Given the description of an element on the screen output the (x, y) to click on. 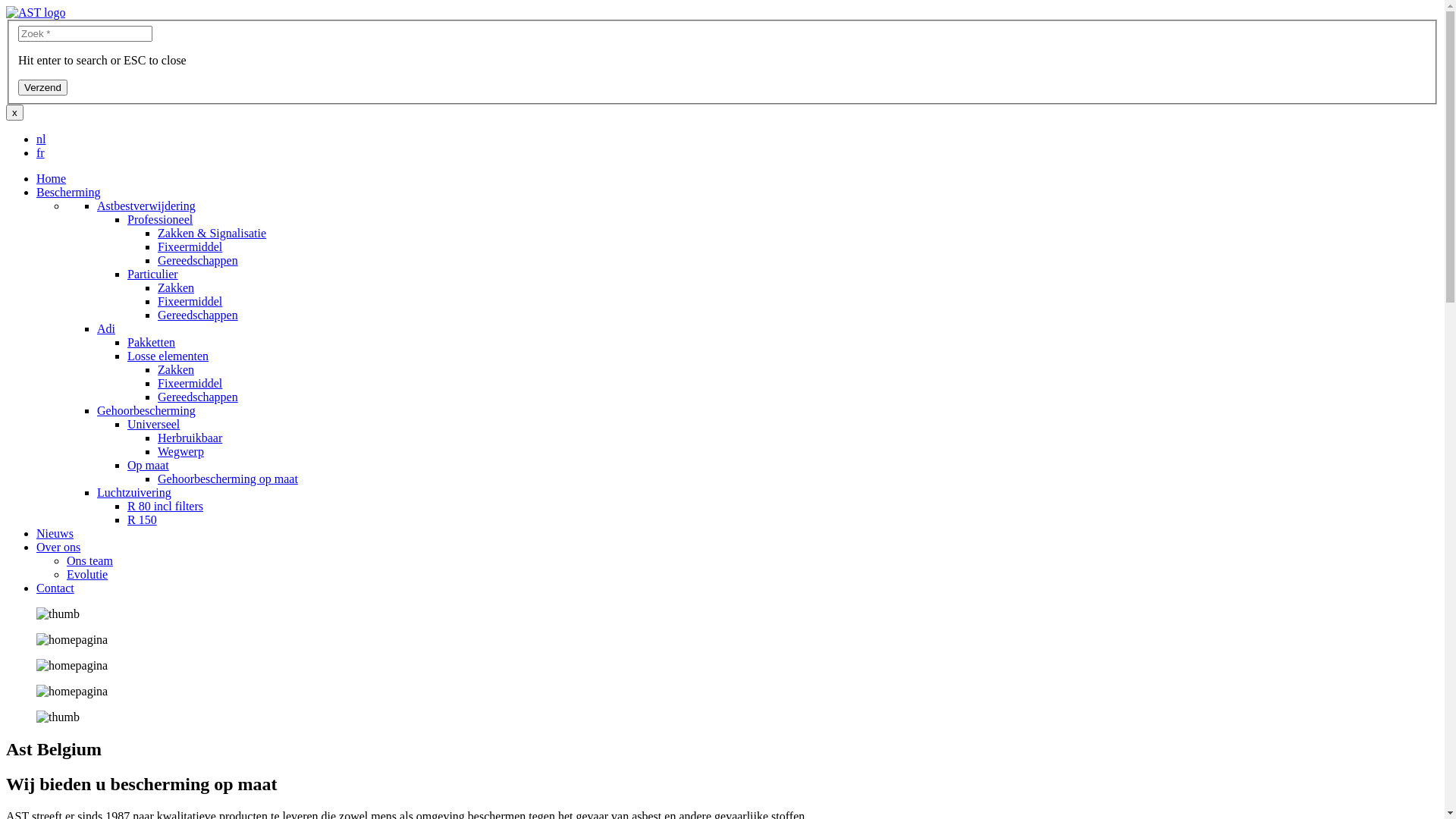
Zakken Element type: text (175, 369)
Gereedschappen Element type: text (197, 314)
nl Element type: text (40, 138)
Zakken & Signalisatie Element type: text (211, 232)
R 80 incl filters Element type: text (165, 505)
Astbestverwijdering Element type: text (146, 205)
Evolutie Element type: text (86, 573)
Over ons Element type: text (58, 546)
Op maat Element type: text (148, 464)
Contact Element type: text (55, 587)
Fixeermiddel Element type: text (189, 300)
Gehoorbescherming op maat Element type: text (227, 478)
Ons team Element type: text (89, 560)
Verzend Element type: text (42, 87)
Gereedschappen Element type: text (197, 260)
Nieuws Element type: text (54, 533)
Professioneel Element type: text (159, 219)
Adi Element type: text (106, 328)
Gehoorbescherming Element type: text (146, 410)
Gereedschappen Element type: text (197, 396)
x Element type: text (14, 112)
Pakketten Element type: text (151, 341)
R 150 Element type: text (141, 519)
Herbruikbaar Element type: text (189, 437)
Luchtzuivering Element type: text (134, 492)
Fixeermiddel Element type: text (189, 382)
Home Element type: text (50, 178)
Particulier Element type: text (152, 273)
fr Element type: text (40, 152)
Bescherming Element type: text (68, 191)
Zakken Element type: text (175, 287)
Losse elementen Element type: text (167, 355)
Fixeermiddel Element type: text (189, 246)
Universeel Element type: text (153, 423)
Wegwerp Element type: text (180, 451)
